Given the description of an element on the screen output the (x, y) to click on. 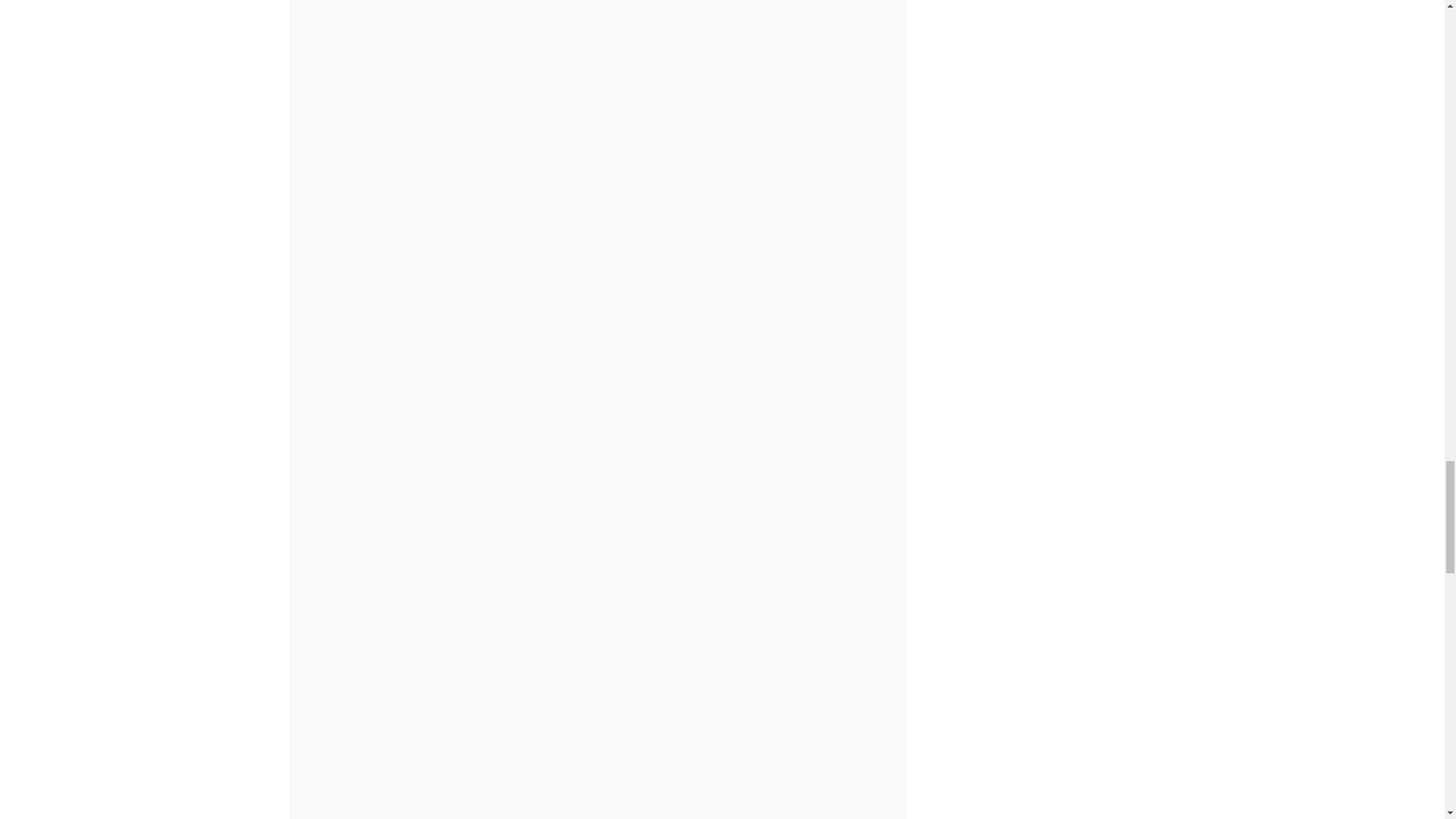
1 Star (612, 31)
3 Stars (612, 733)
